Given the description of an element on the screen output the (x, y) to click on. 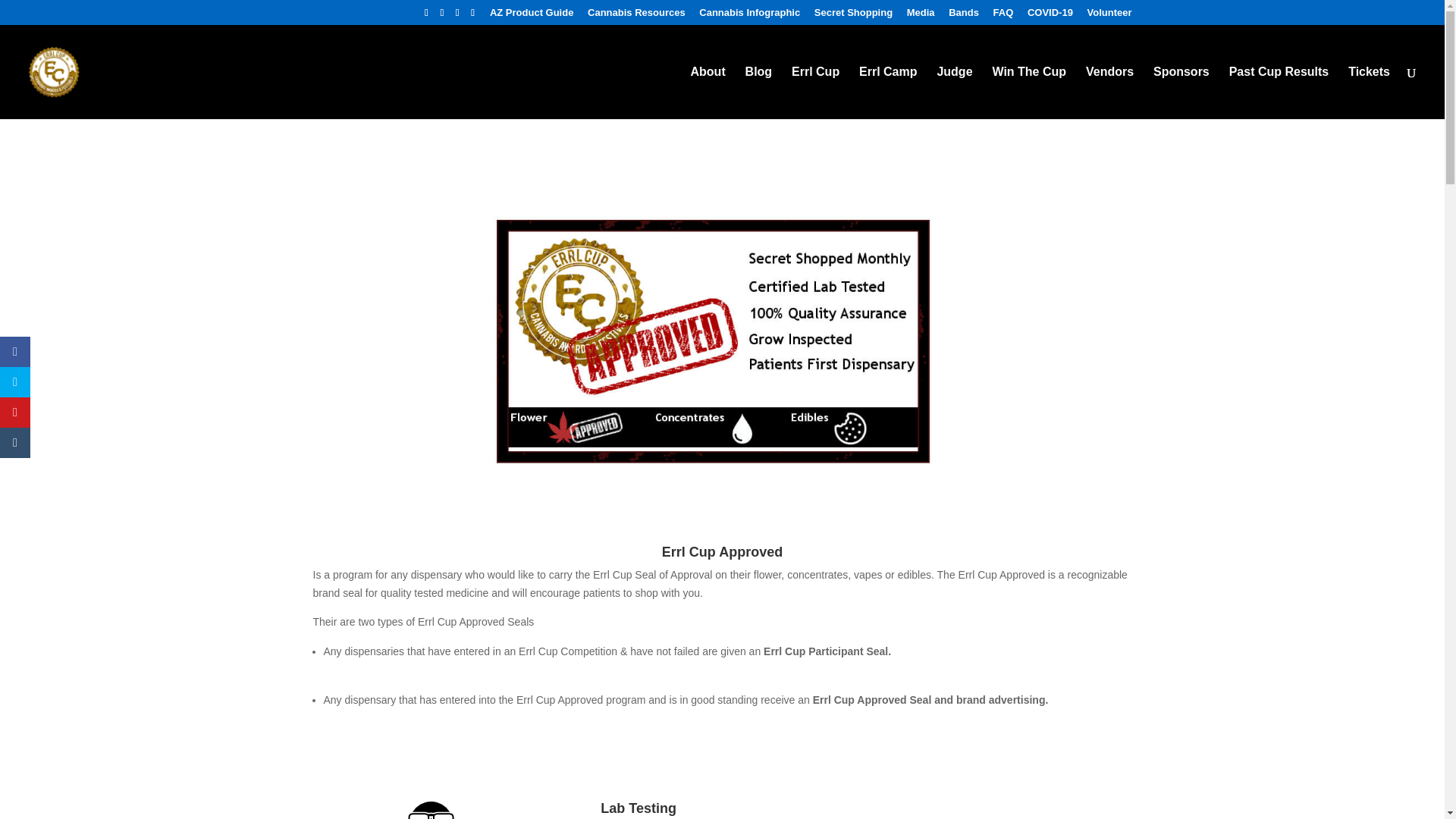
Cannabis Resources (636, 16)
Bands (963, 16)
Win The Cup (1028, 92)
Secret Shopping (852, 16)
Cannabis Infographic (748, 16)
COVID-19 (1050, 16)
FAQ (1002, 16)
Vendors (1110, 92)
Volunteer (1109, 16)
Past Cup Results (1278, 92)
Sponsors (1181, 92)
AZ Product Guide (531, 16)
Media (920, 16)
Errl Cup (816, 92)
Errl Camp (888, 92)
